Given the description of an element on the screen output the (x, y) to click on. 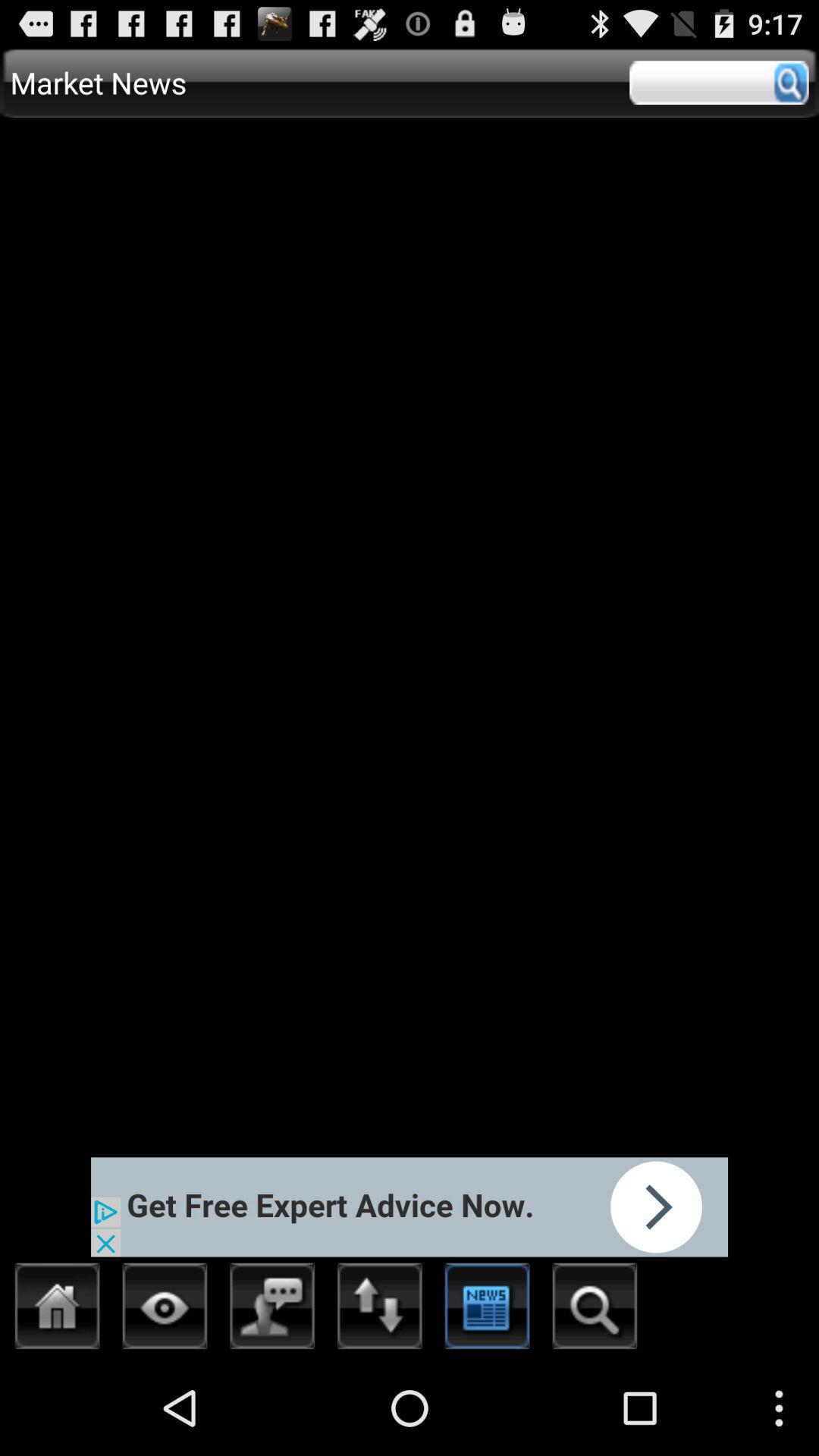
go to homescreen (57, 1310)
